Given the description of an element on the screen output the (x, y) to click on. 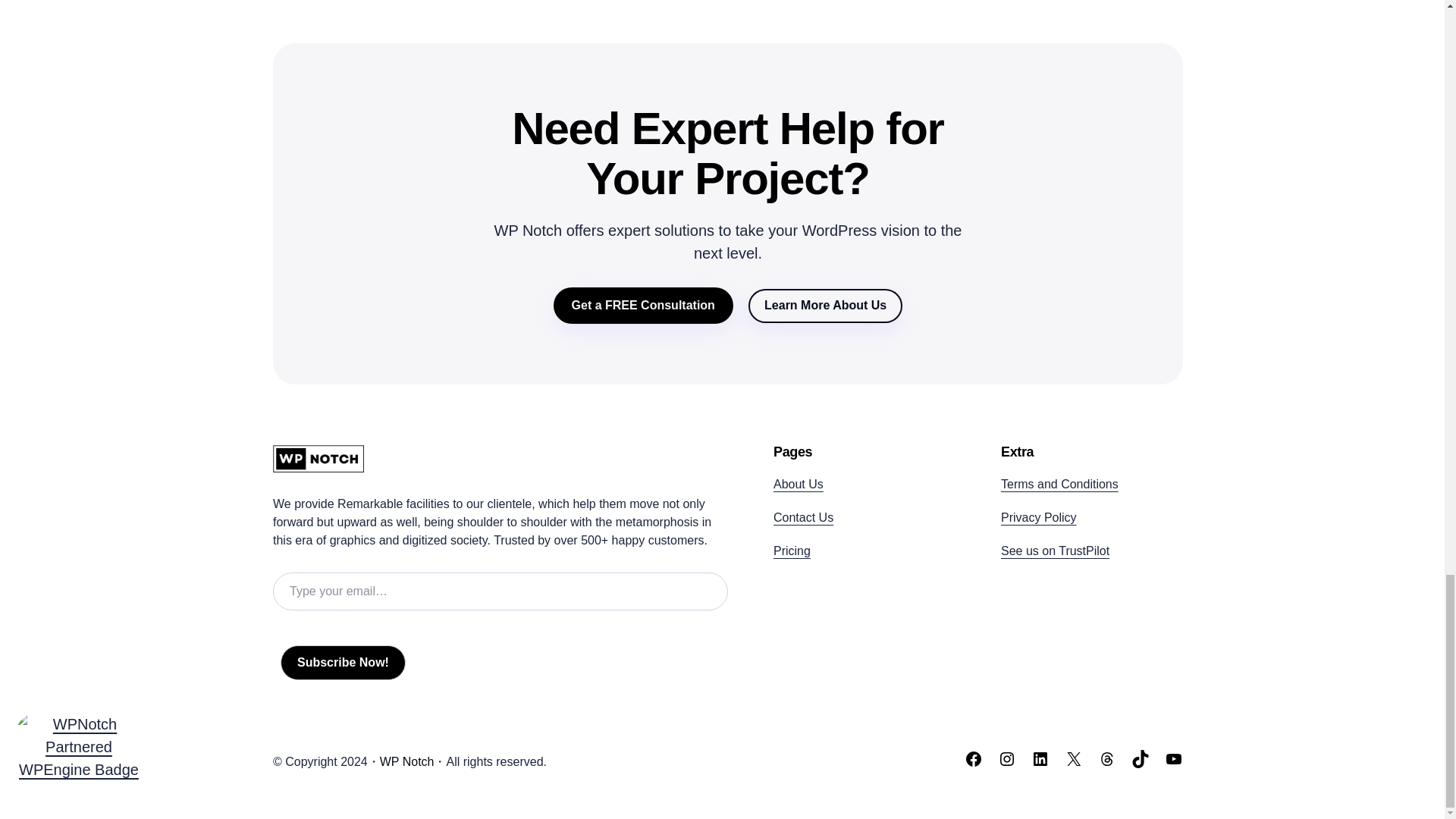
Contact Us (802, 517)
WP Notch (406, 761)
Get a FREE Consultation (643, 305)
About Us (798, 483)
See us on TrustPilot (1055, 550)
Pricing (791, 550)
Please fill in this field. (500, 591)
Terms and Conditions (1059, 483)
Subscribe Now! (343, 662)
Privacy Policy (1039, 517)
